Given the description of an element on the screen output the (x, y) to click on. 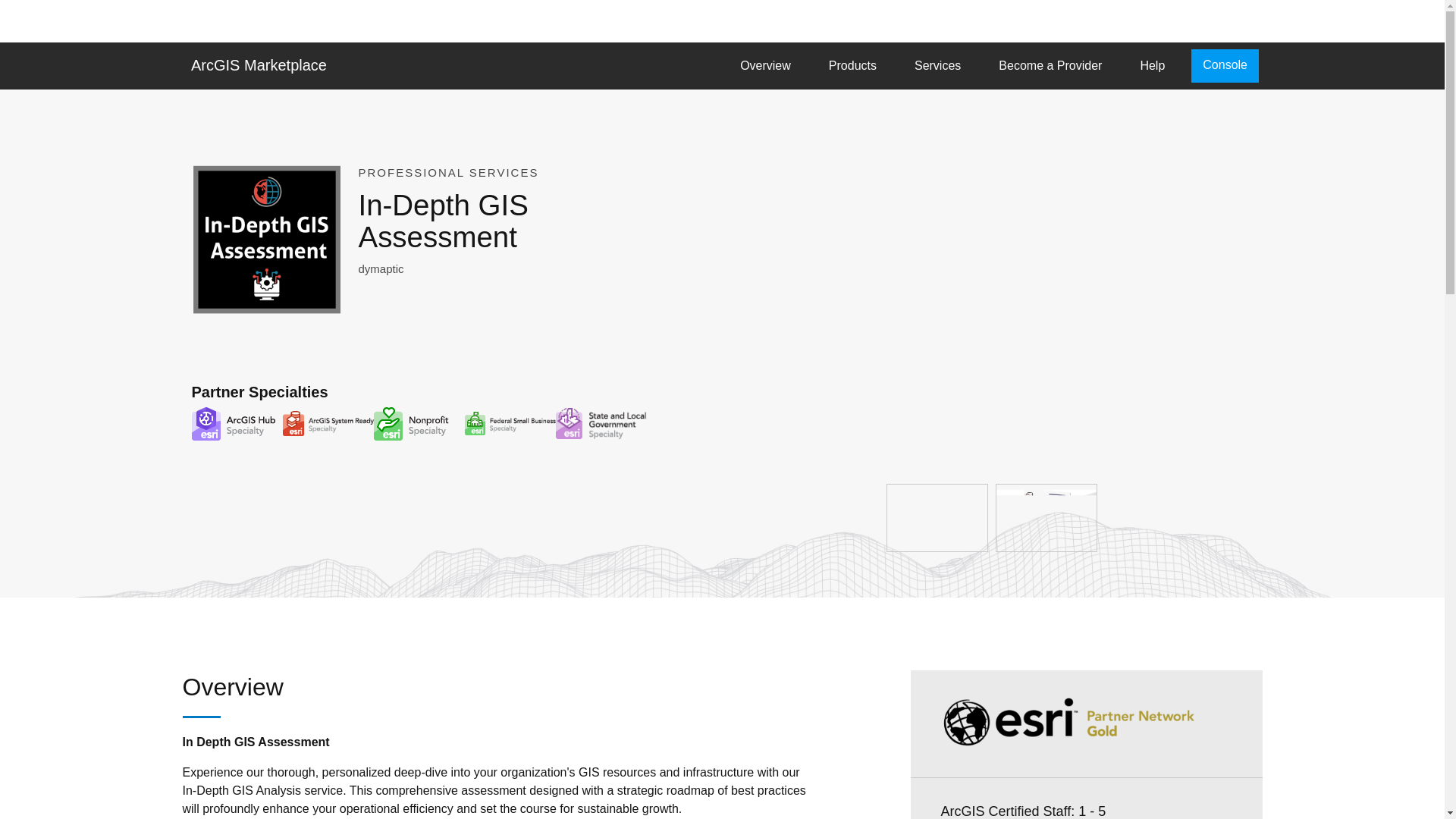
Help (1152, 65)
ArcGIS Marketplace (258, 64)
Become a Provider (1050, 65)
Services (937, 65)
Overview (764, 65)
Products (852, 65)
Console (1225, 64)
